Given the description of an element on the screen output the (x, y) to click on. 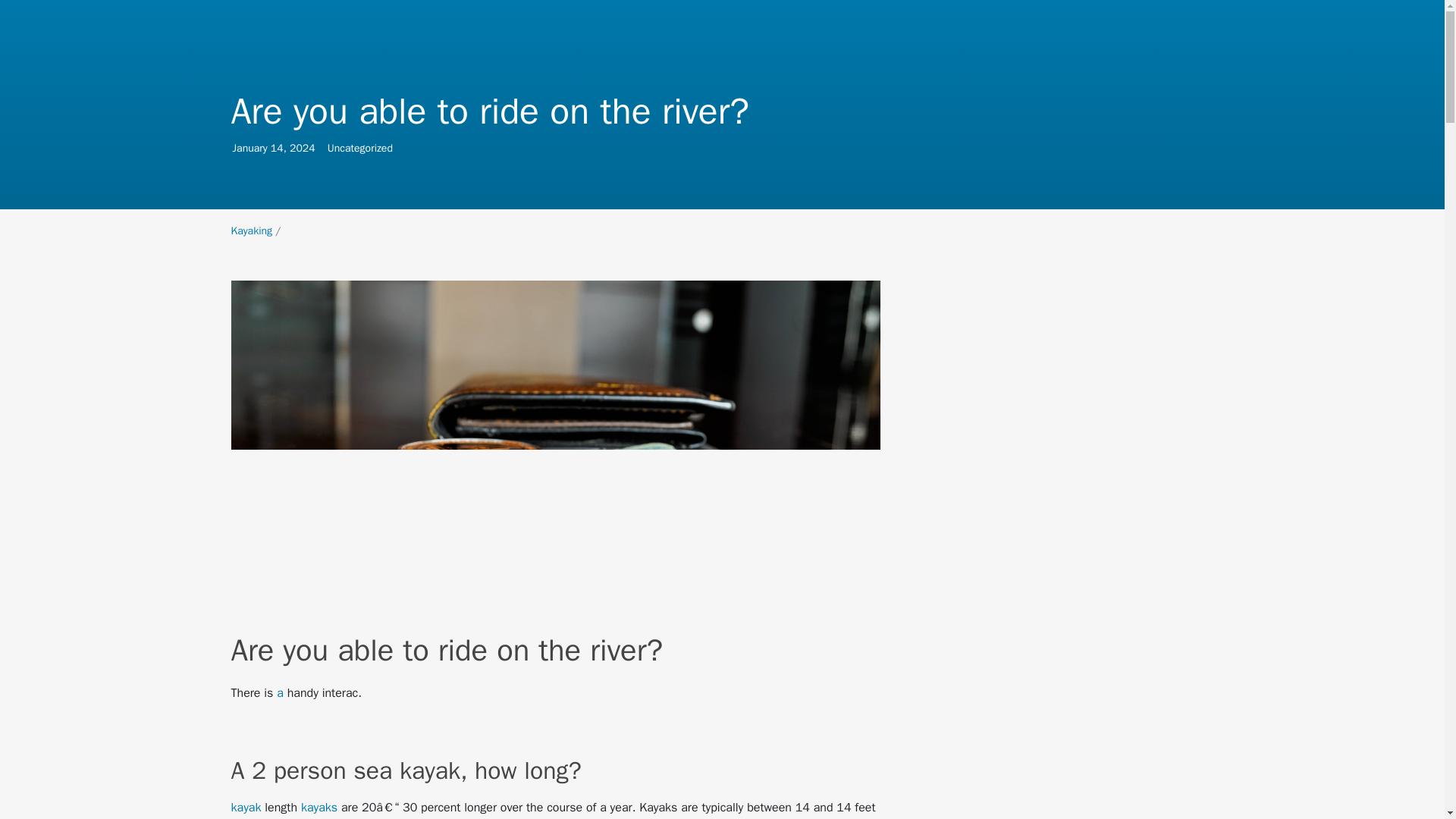
kayak (245, 807)
kayaks (319, 807)
14 (276, 147)
2024 (302, 147)
January (251, 230)
